Given the description of an element on the screen output the (x, y) to click on. 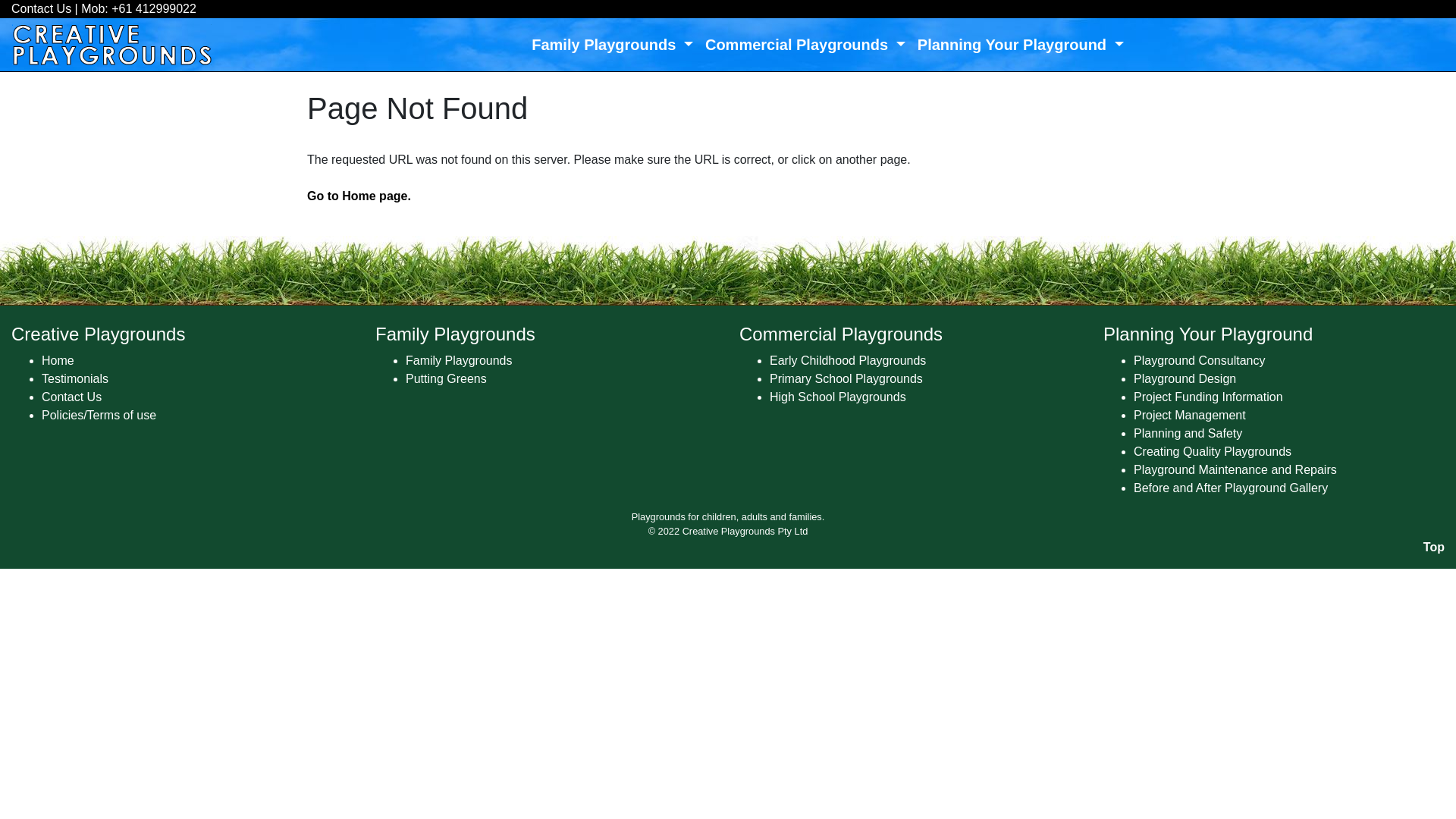
Putting Greens Element type: text (445, 378)
Testimonials Element type: text (74, 378)
Family Playgrounds Element type: text (458, 360)
Policies/Terms of use Element type: text (98, 414)
Project Management Element type: text (1189, 414)
Primary School Playgrounds Element type: text (845, 378)
Playground Consultancy Element type: text (1198, 360)
Early Childhood Playgrounds Element type: text (847, 360)
Family Playgrounds Element type: text (612, 44)
Before and After Playground Gallery Element type: text (1230, 487)
Playground Maintenance and Repairs Element type: text (1234, 469)
Planning Your Playground Element type: text (1020, 44)
Home Element type: text (57, 360)
Top Element type: text (1433, 546)
Creating Quality Playgrounds Element type: text (1212, 451)
Contact Us Element type: text (41, 8)
Planning and Safety Element type: text (1187, 432)
+61 412999022 Element type: text (153, 8)
Commercial Playgrounds Element type: text (805, 44)
Playground Design Element type: text (1184, 378)
Project Funding Information Element type: text (1208, 396)
High School Playgrounds Element type: text (837, 396)
Contact Us Element type: text (71, 396)
Go to Home page. Element type: text (359, 195)
